Given the description of an element on the screen output the (x, y) to click on. 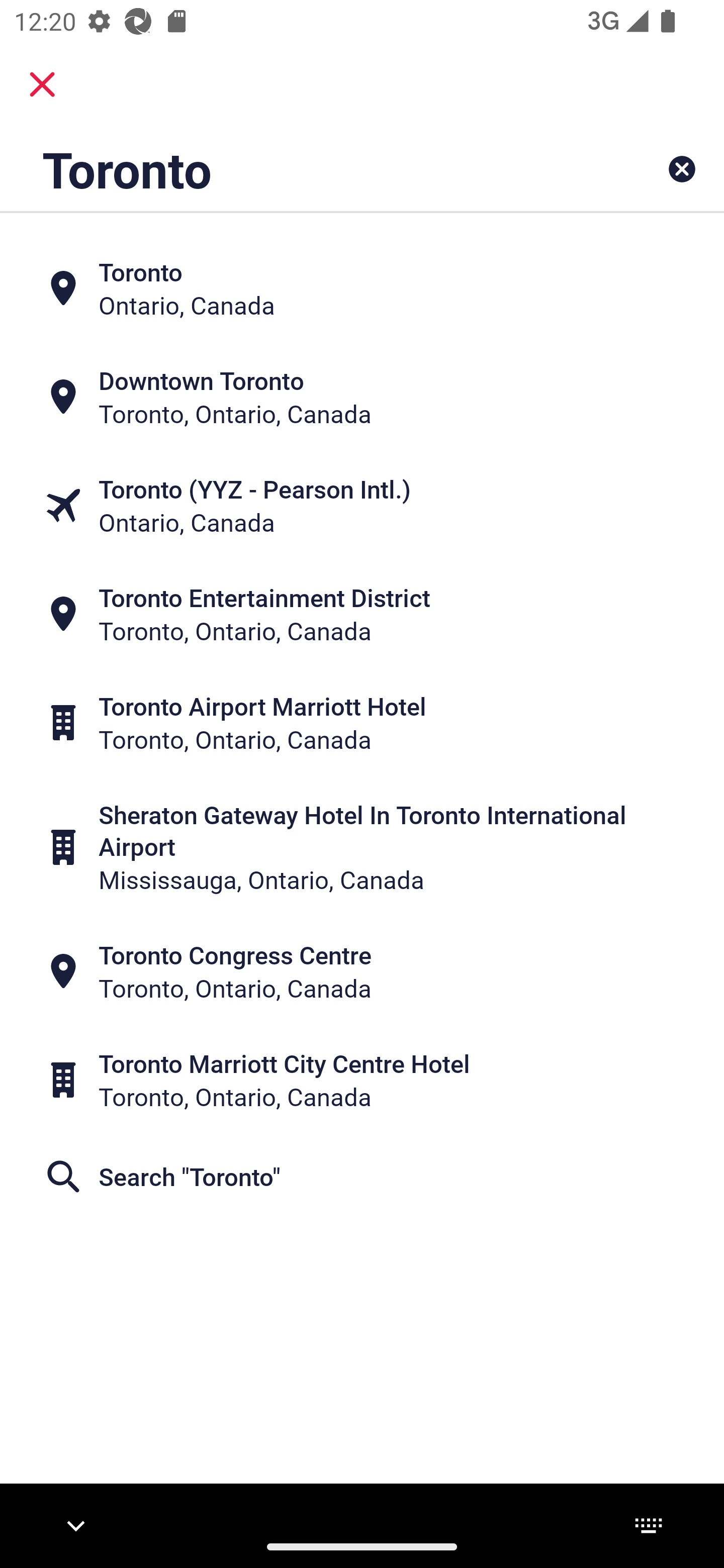
close. (42, 84)
Clear (681, 169)
Toronto (298, 169)
Toronto Ontario, Canada (362, 288)
Downtown Toronto Toronto, Ontario, Canada (362, 397)
Toronto (YYZ - Pearson Intl.) Ontario, Canada (362, 505)
Toronto Congress Centre Toronto, Ontario, Canada (362, 971)
Search "Toronto" (362, 1175)
